Given the description of an element on the screen output the (x, y) to click on. 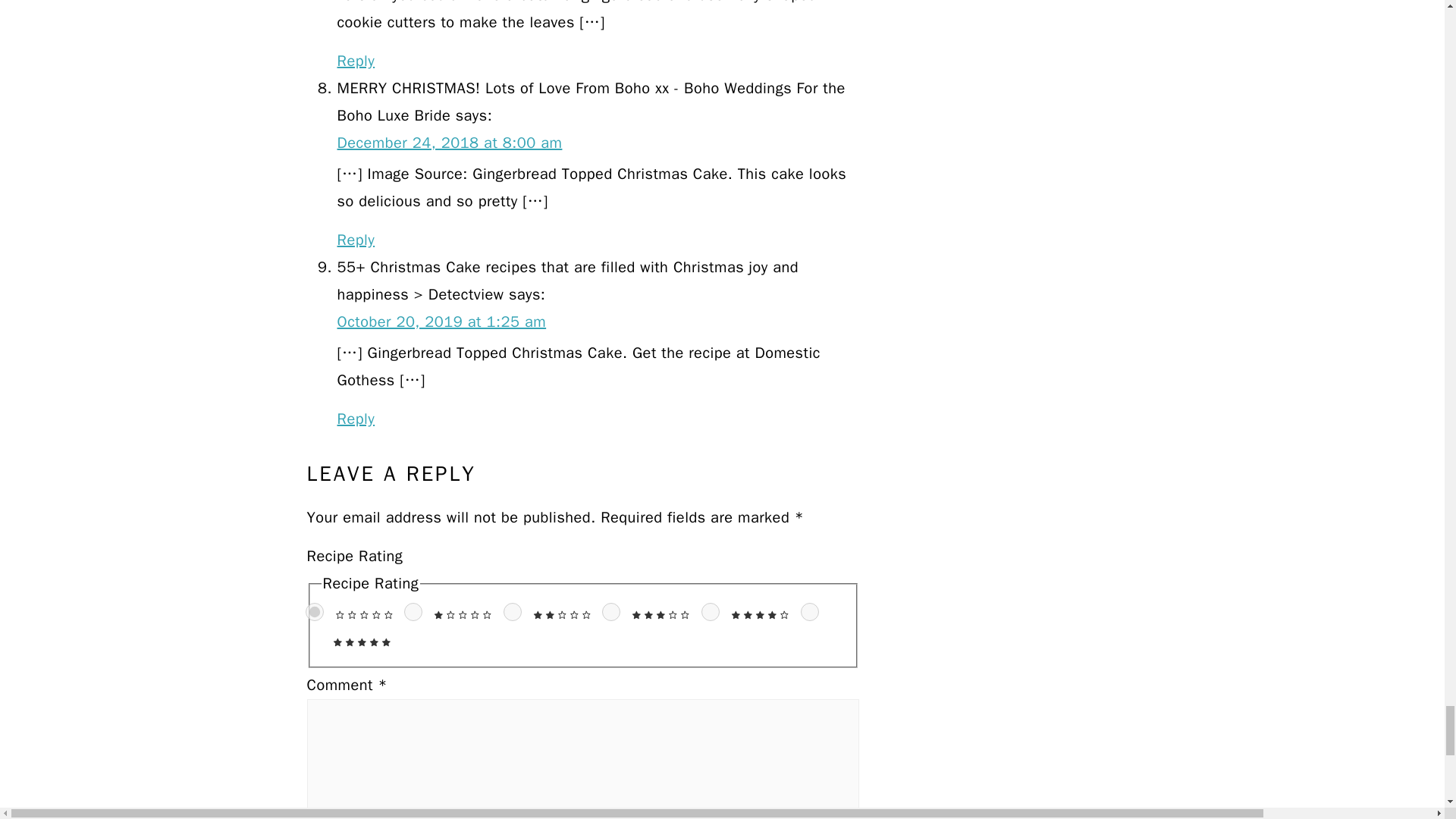
4 (710, 611)
2 (512, 611)
3 (611, 611)
5 (809, 611)
0 (313, 611)
1 (413, 611)
